Given the description of an element on the screen output the (x, y) to click on. 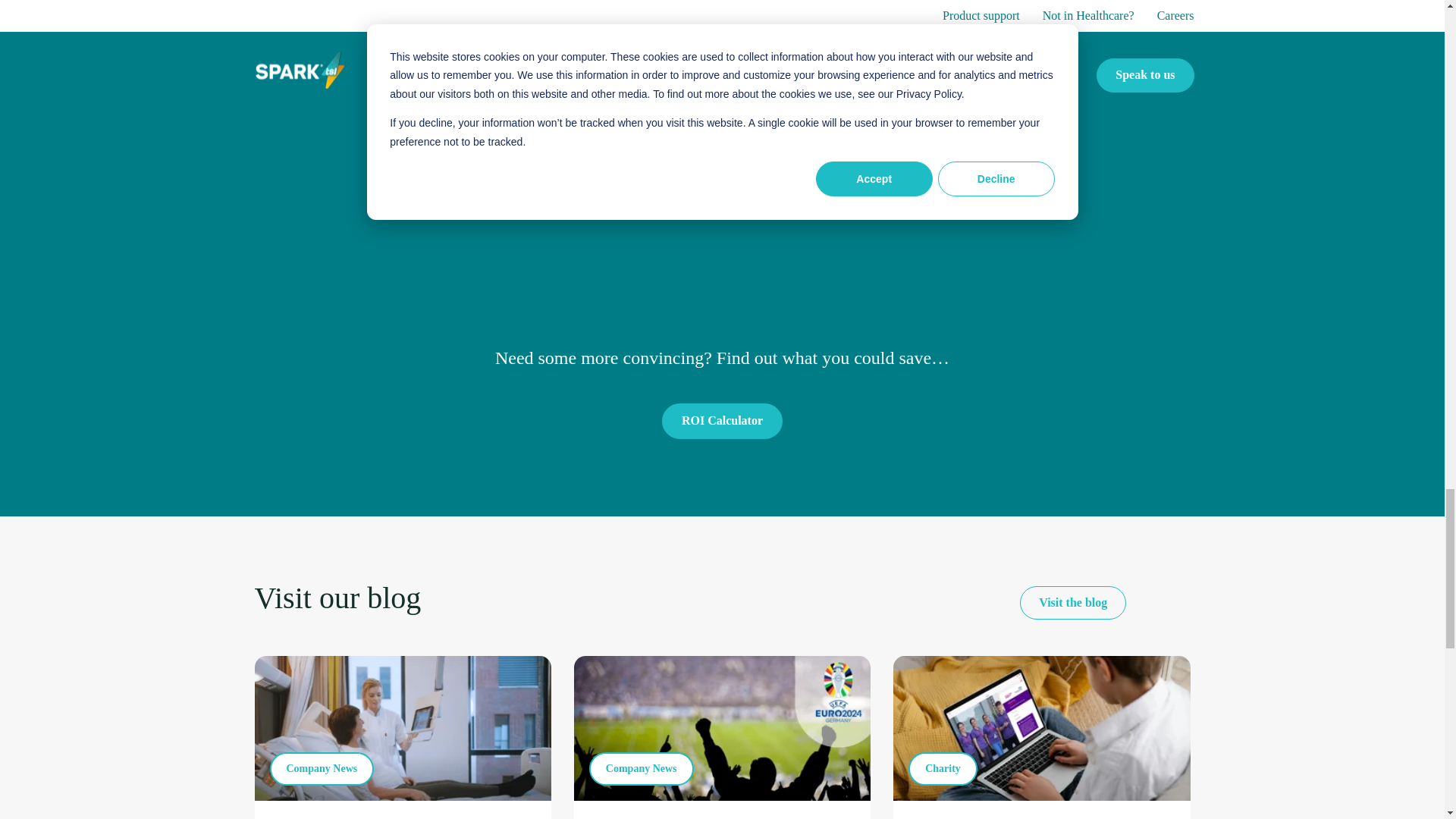
ROI Calculator (722, 420)
